Given the description of an element on the screen output the (x, y) to click on. 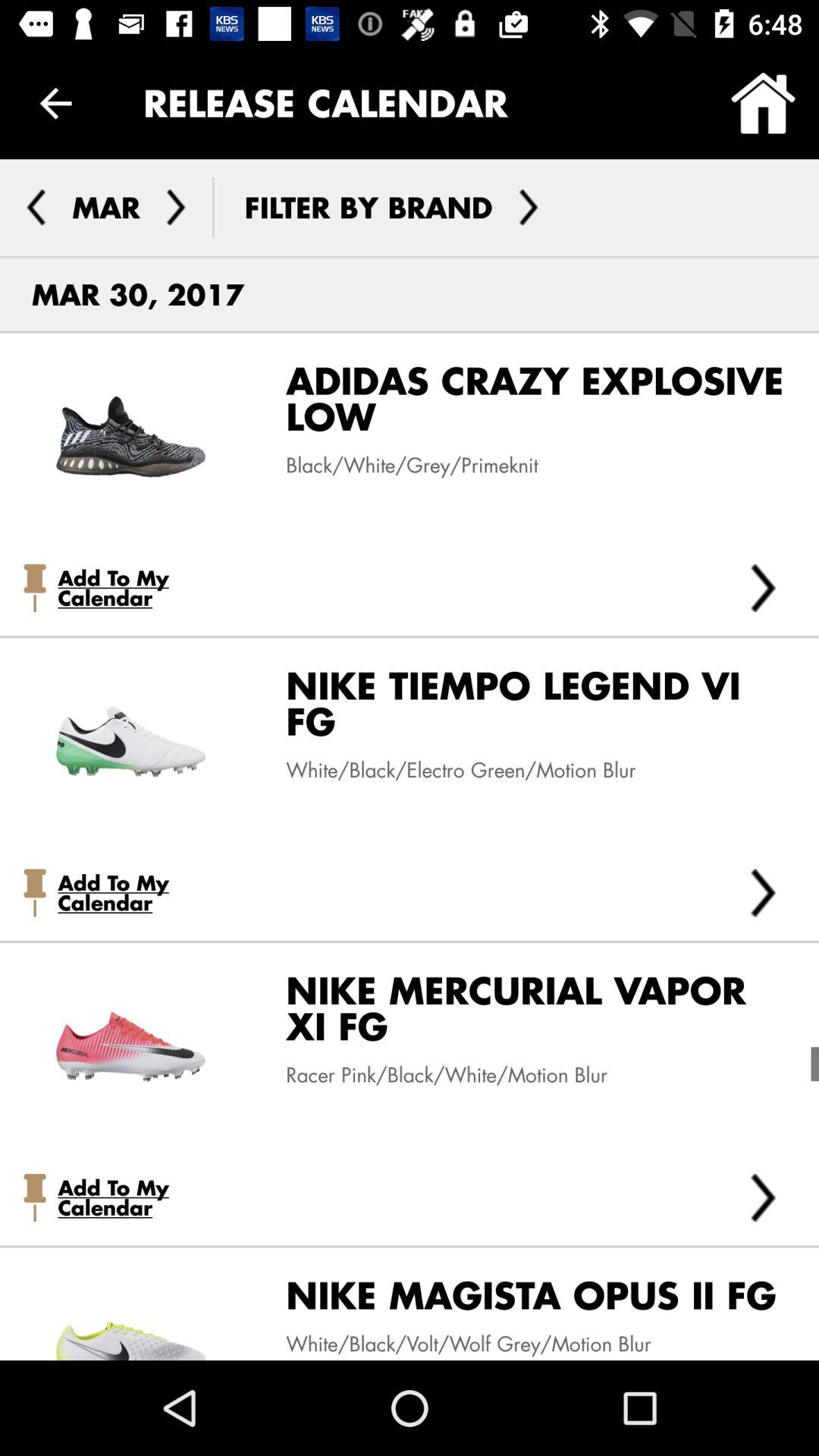
press item next to add to my icon (763, 587)
